Given the description of an element on the screen output the (x, y) to click on. 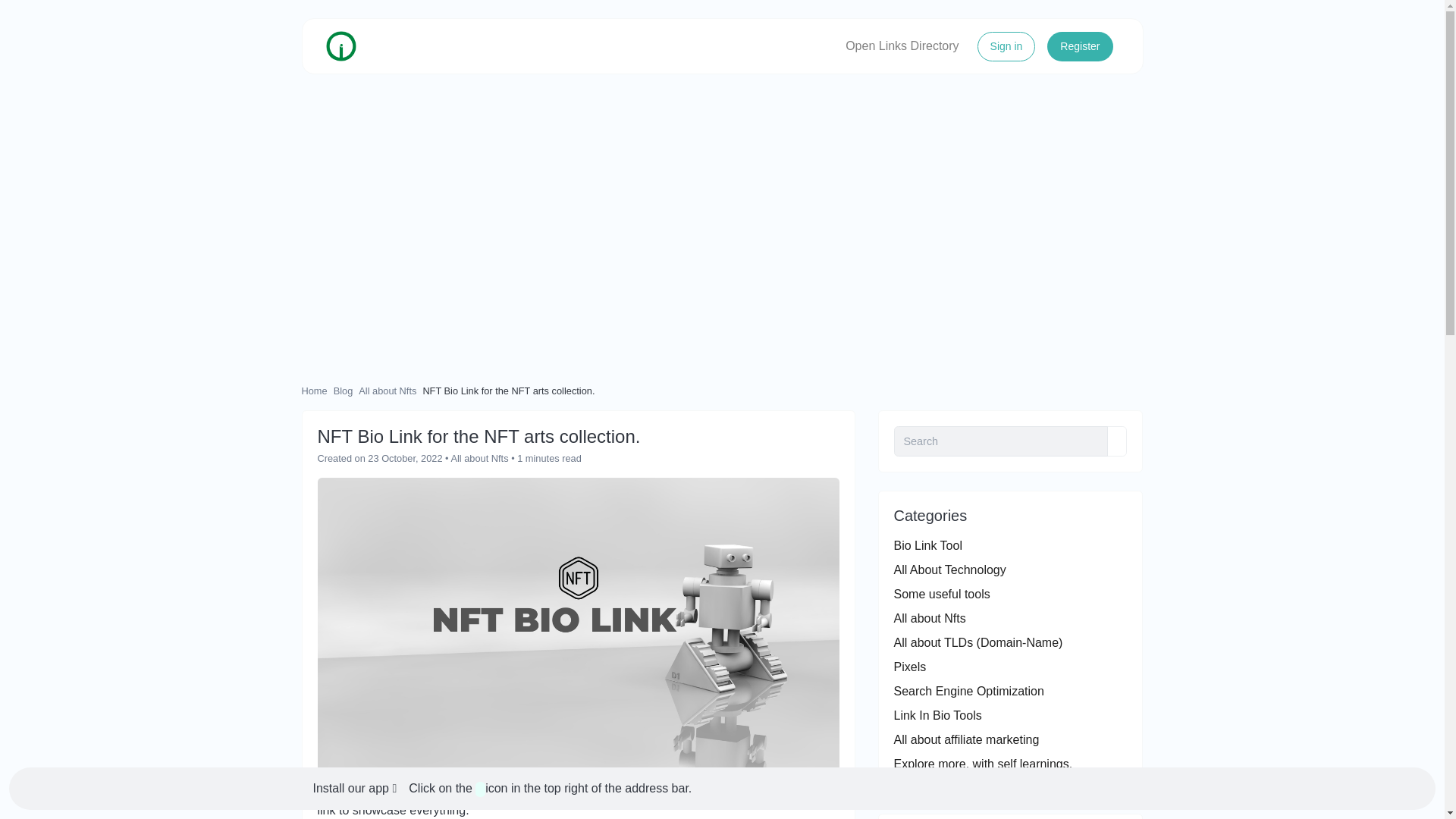
Sign in (1005, 46)
Blog (343, 390)
Link In Bio Tools (937, 715)
Bio Link Tool (926, 545)
Register (1079, 46)
All about Nfts (478, 458)
All About Technology (949, 569)
Home (314, 390)
Open Links Directory (901, 46)
